Given the description of an element on the screen output the (x, y) to click on. 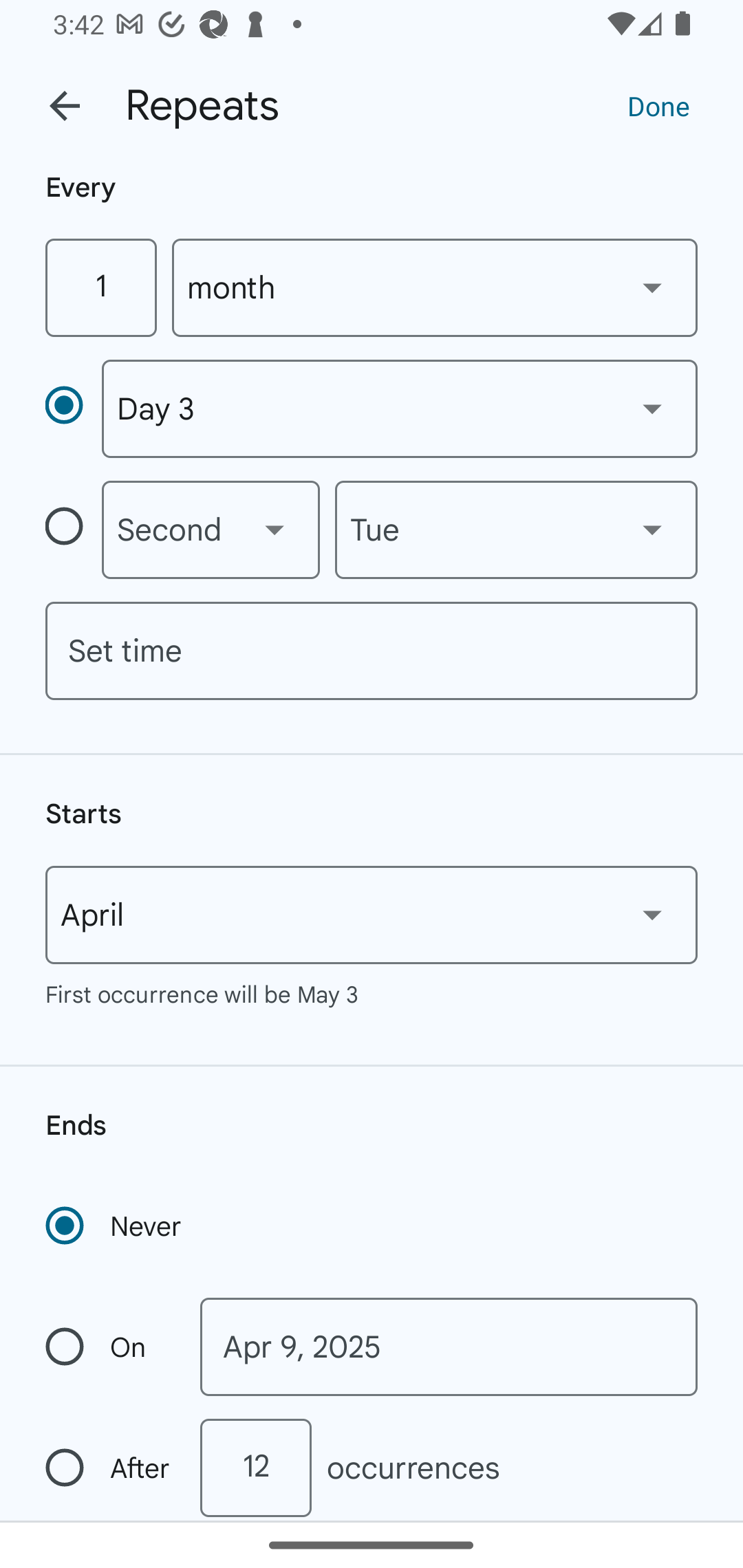
Back (64, 105)
Done (658, 105)
1 (100, 287)
month (434, 287)
Show dropdown menu (652, 286)
Day 3 (399, 408)
Show dropdown menu (652, 408)
Repeat monthly on a specific day of the month (73, 408)
Second (210, 529)
Tue (516, 529)
Show dropdown menu (274, 529)
Show dropdown menu (652, 529)
Repeat monthly on a specific weekday (73, 529)
Set time (371, 650)
April (371, 914)
Show dropdown menu (652, 913)
Never Recurrence never ends (115, 1225)
Apr 9, 2025 (448, 1346)
On Recurrence ends on a specific date (109, 1346)
12 (255, 1468)
